Given the description of an element on the screen output the (x, y) to click on. 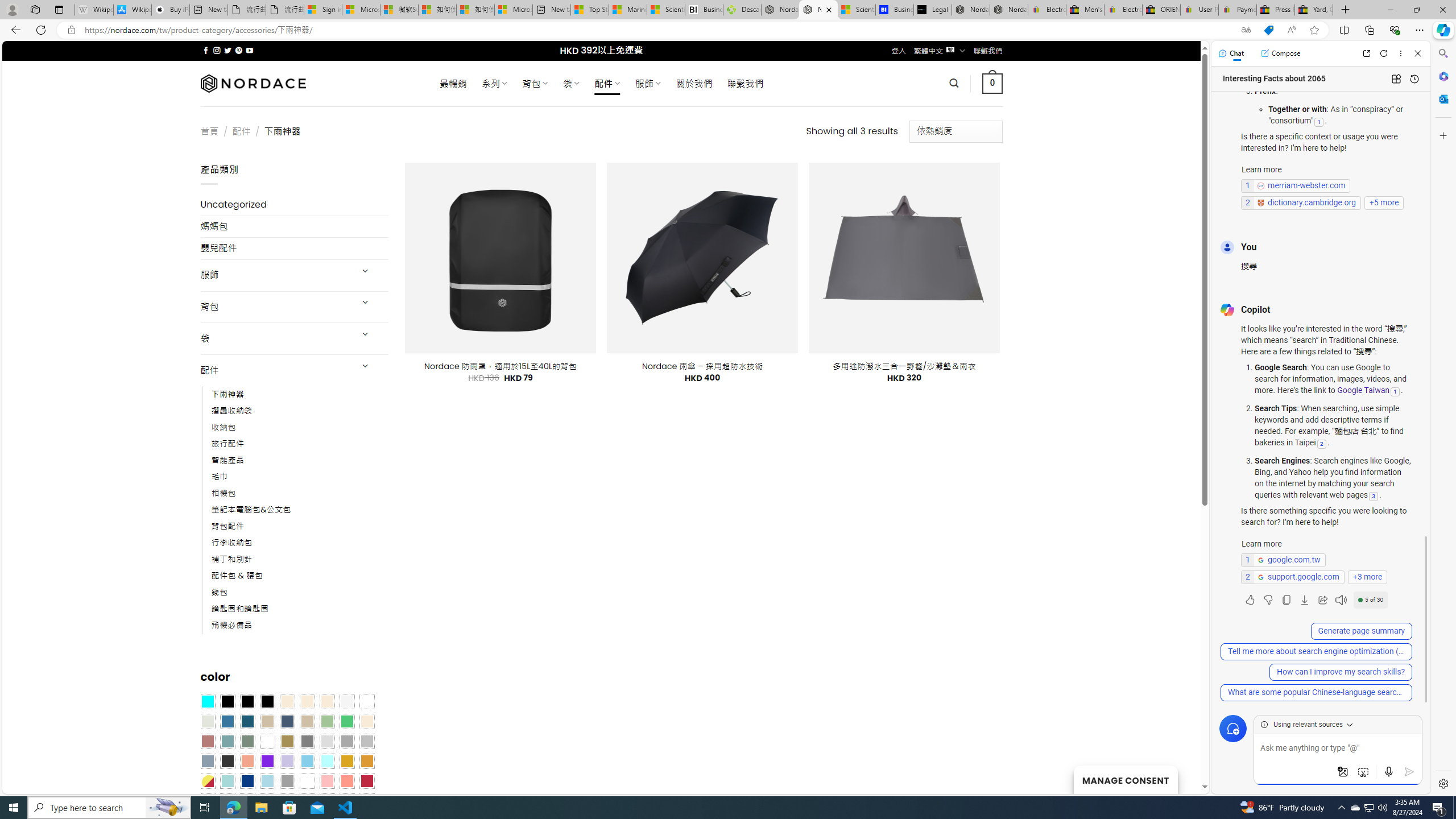
Top Stories - MSN (589, 9)
